Given the description of an element on the screen output the (x, y) to click on. 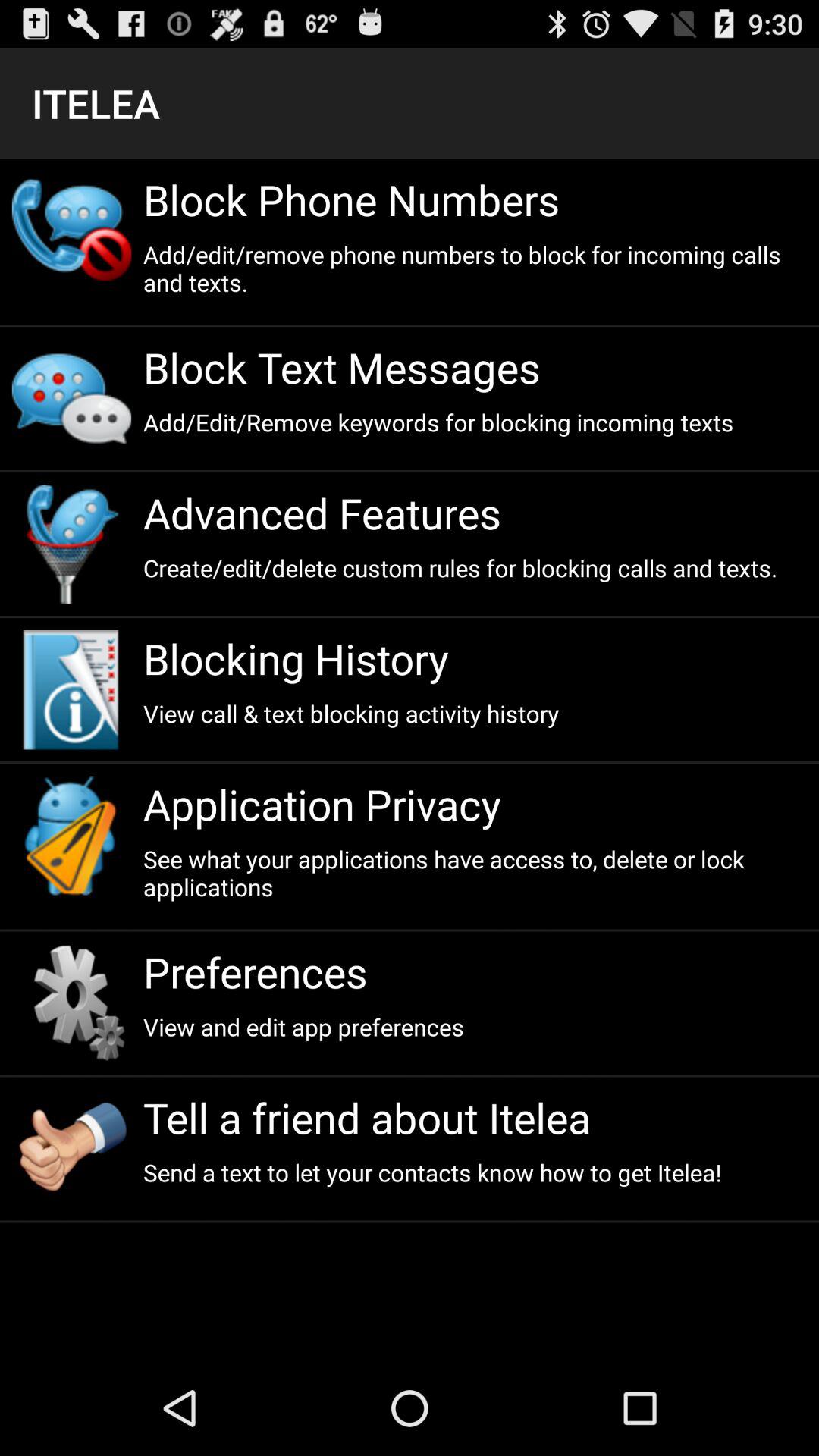
swipe to see what your (475, 872)
